Given the description of an element on the screen output the (x, y) to click on. 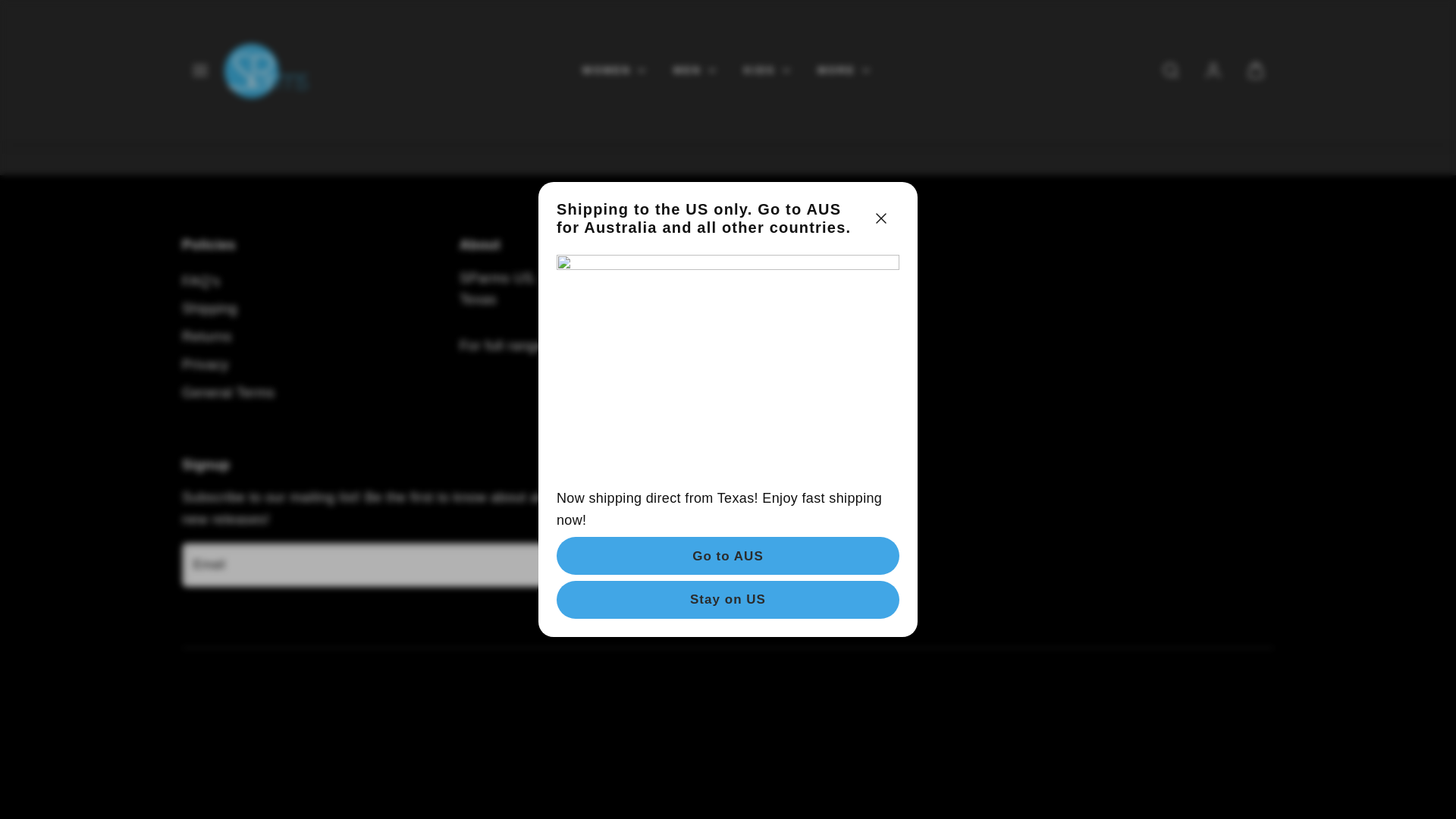
Shop Pay (370, 718)
PayPal (335, 718)
Google Pay (266, 718)
Mastercard (300, 718)
Visa (440, 718)
American Express (196, 718)
Union Pay (405, 718)
Apple Pay (231, 718)
